Given the description of an element on the screen output the (x, y) to click on. 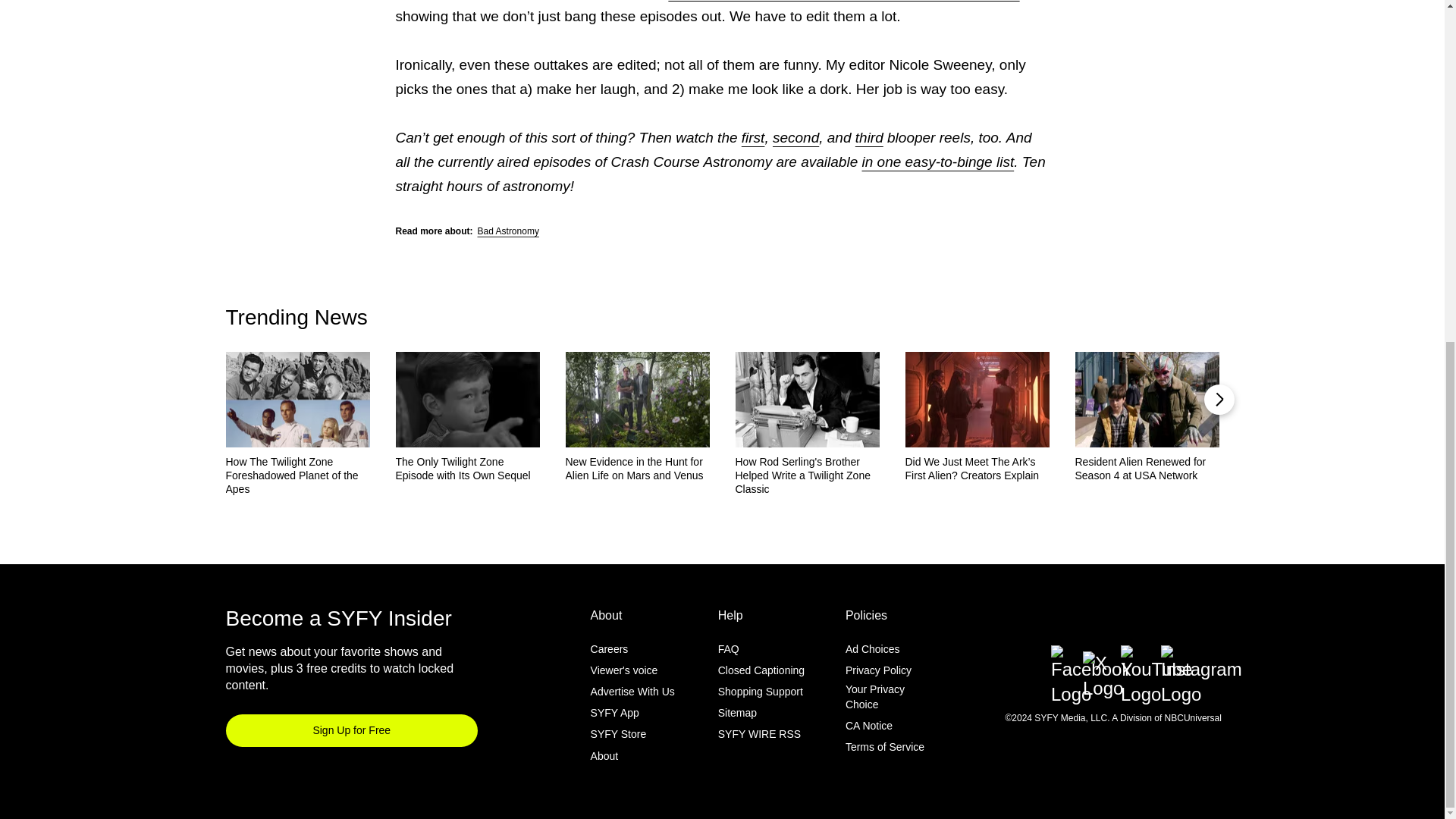
Advertise With Us (633, 691)
The Only Twilight Zone Episode with Its Own Sequel (468, 468)
in one easy-to-binge list (937, 161)
New Evidence in the Hunt for Alien Life on Mars and Venus (638, 468)
first (753, 137)
third (869, 137)
second (795, 137)
Bad Astronomy (507, 231)
How The Twilight Zone Foreshadowed Planet of the Apes (297, 475)
